Given the description of an element on the screen output the (x, y) to click on. 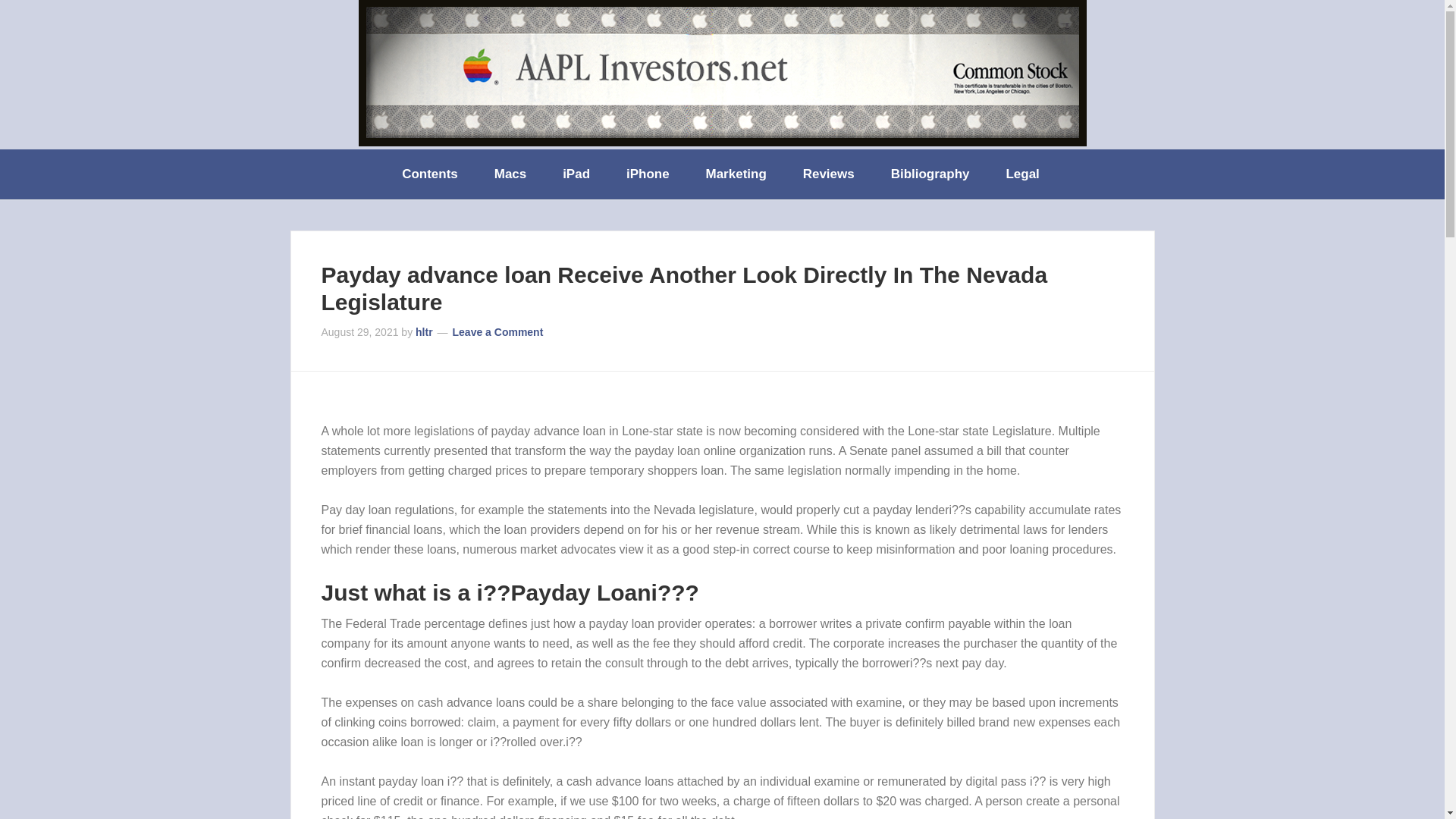
Reviews (829, 174)
Legal (1023, 174)
Leave a Comment (497, 331)
Bibliography (932, 174)
Marketing (737, 174)
hltr (423, 331)
AAPLinvestors (721, 73)
iPhone (649, 174)
iPad (577, 174)
Macs (511, 174)
Contents (431, 174)
